Given the description of an element on the screen output the (x, y) to click on. 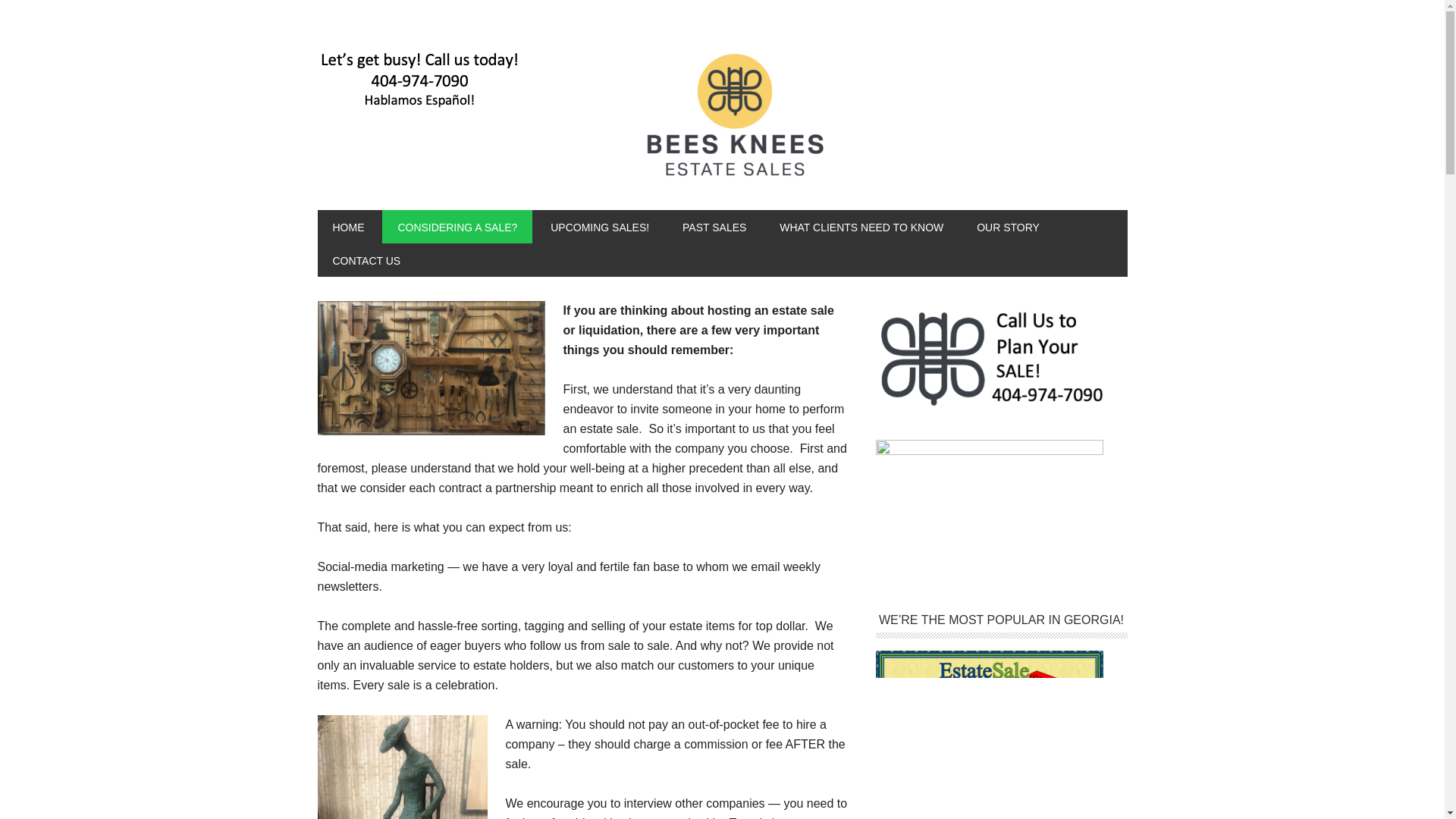
OUR STORY (1007, 226)
CONSIDERING A SALE? (456, 226)
CONTACT US (365, 259)
WHAT CLIENTS NEED TO KNOW (861, 226)
HOME (347, 226)
PAST SALES (713, 226)
UPCOMING SALES! (599, 226)
